Given the description of an element on the screen output the (x, y) to click on. 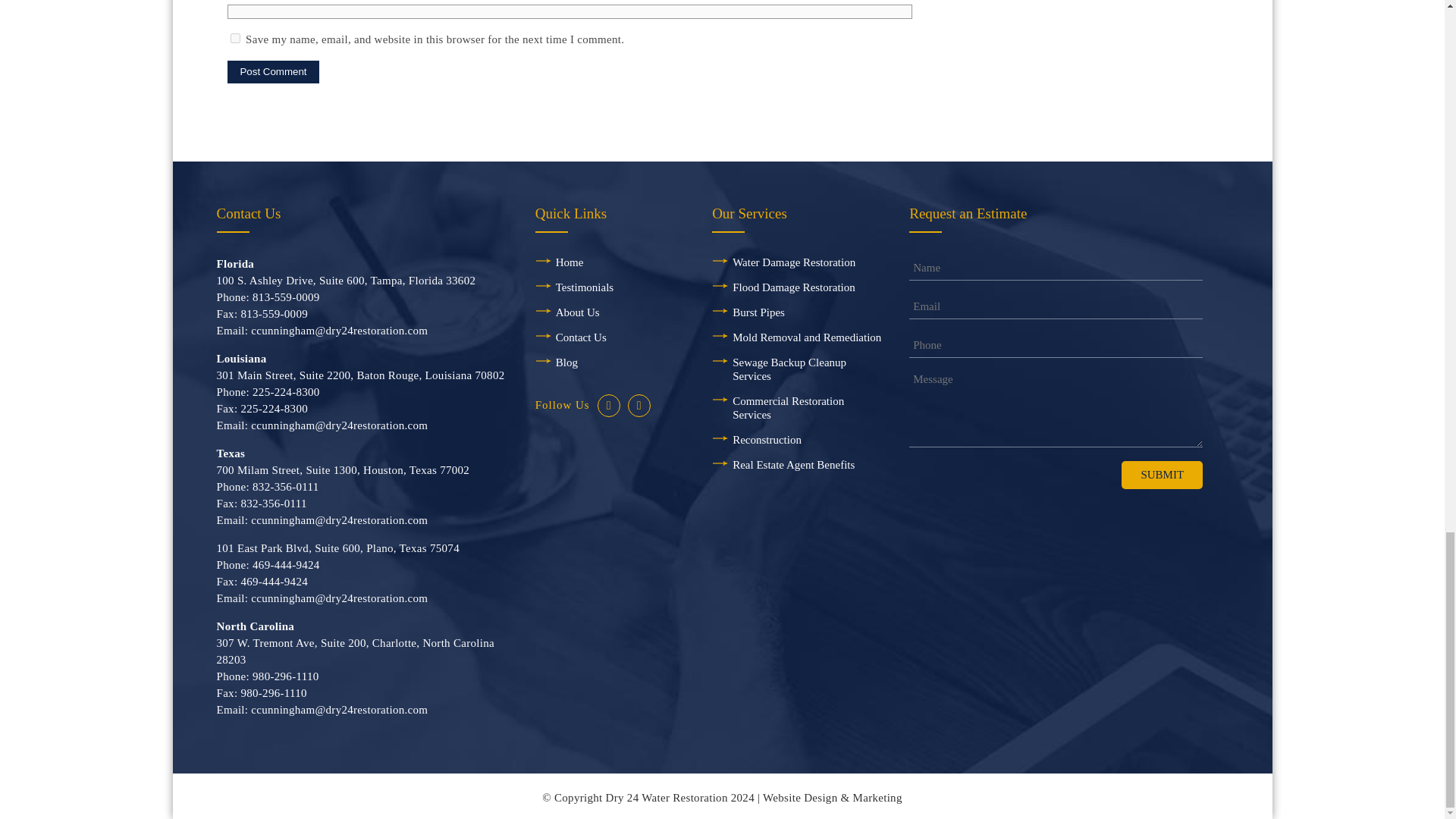
yes (235, 38)
Post Comment (272, 71)
Post Comment (272, 71)
